Given the description of an element on the screen output the (x, y) to click on. 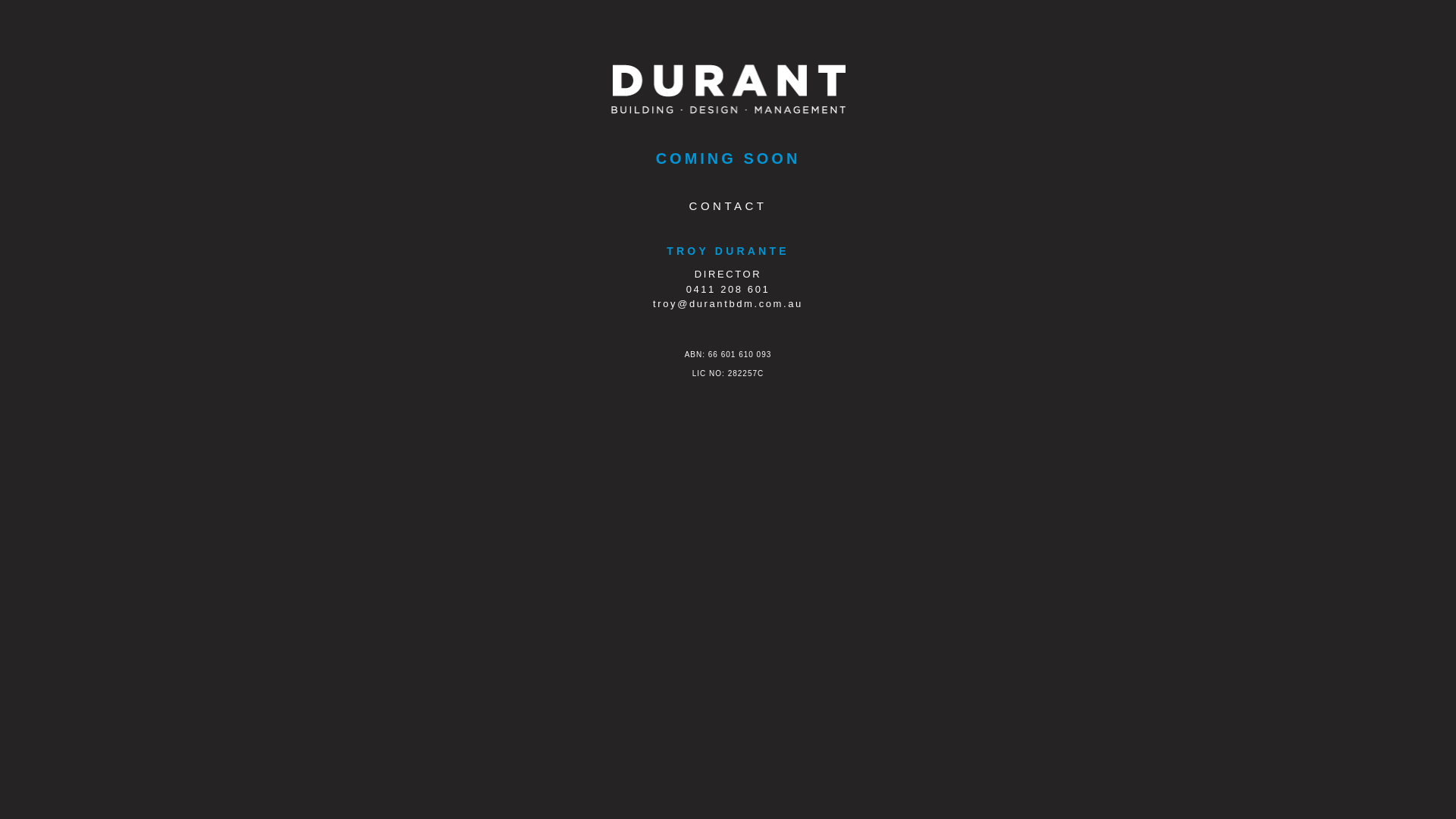
troy@durantbdm.com.au Element type: text (727, 303)
